Given the description of an element on the screen output the (x, y) to click on. 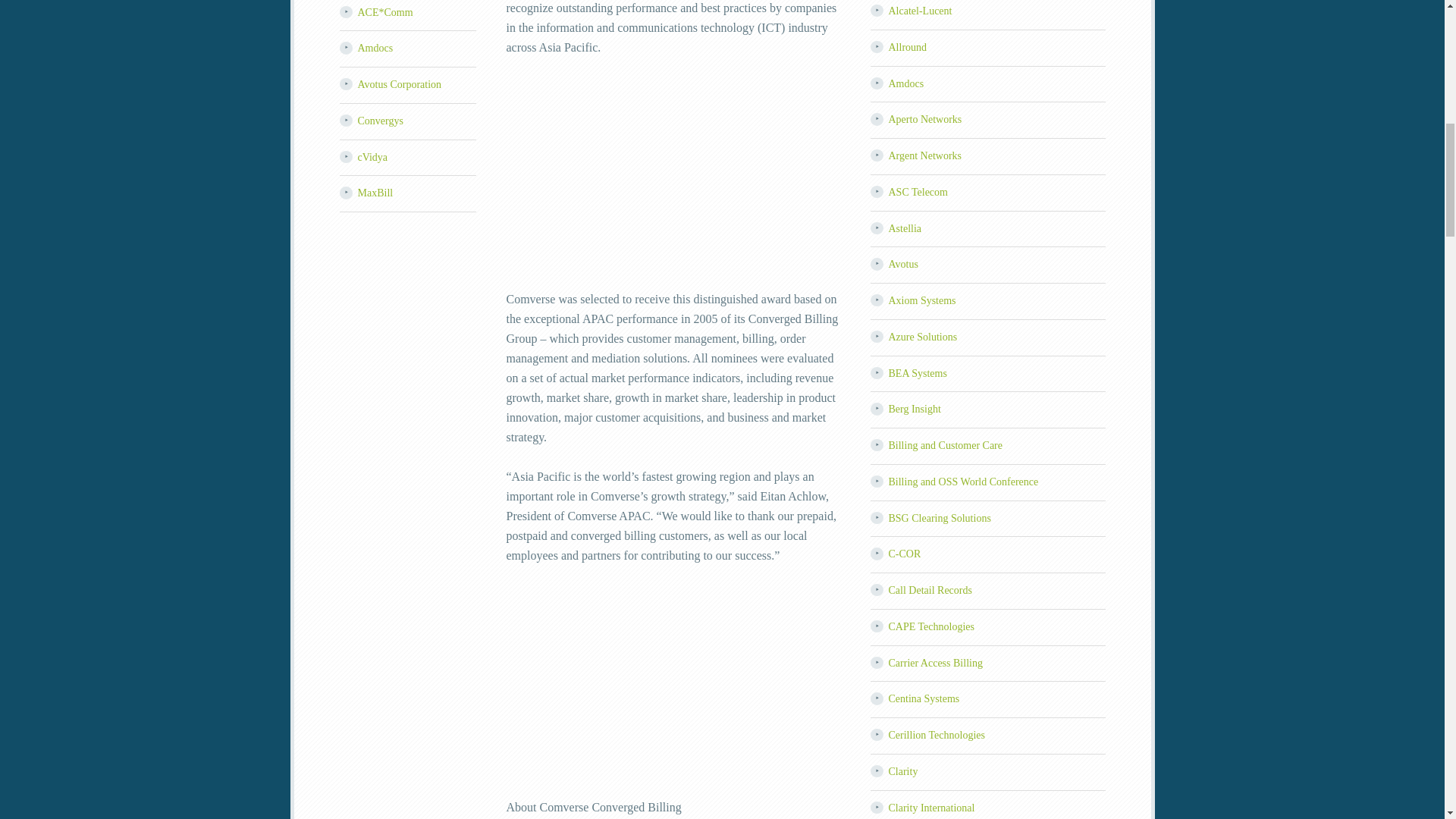
Clarity International (931, 808)
CAPE Technologies (931, 626)
Alcatel-Lucent (920, 10)
BSG Clearing Solutions (939, 518)
Argent Networks (925, 155)
Aperto Networks (925, 119)
Advertisement (673, 182)
Berg Insight (914, 408)
Carrier Access Billing (935, 663)
BEA Systems (917, 373)
Billing and OSS World Conference (963, 481)
Centina Systems (923, 698)
Allround (907, 47)
Clarity (903, 771)
Billing and Customer Care (945, 445)
